Given the description of an element on the screen output the (x, y) to click on. 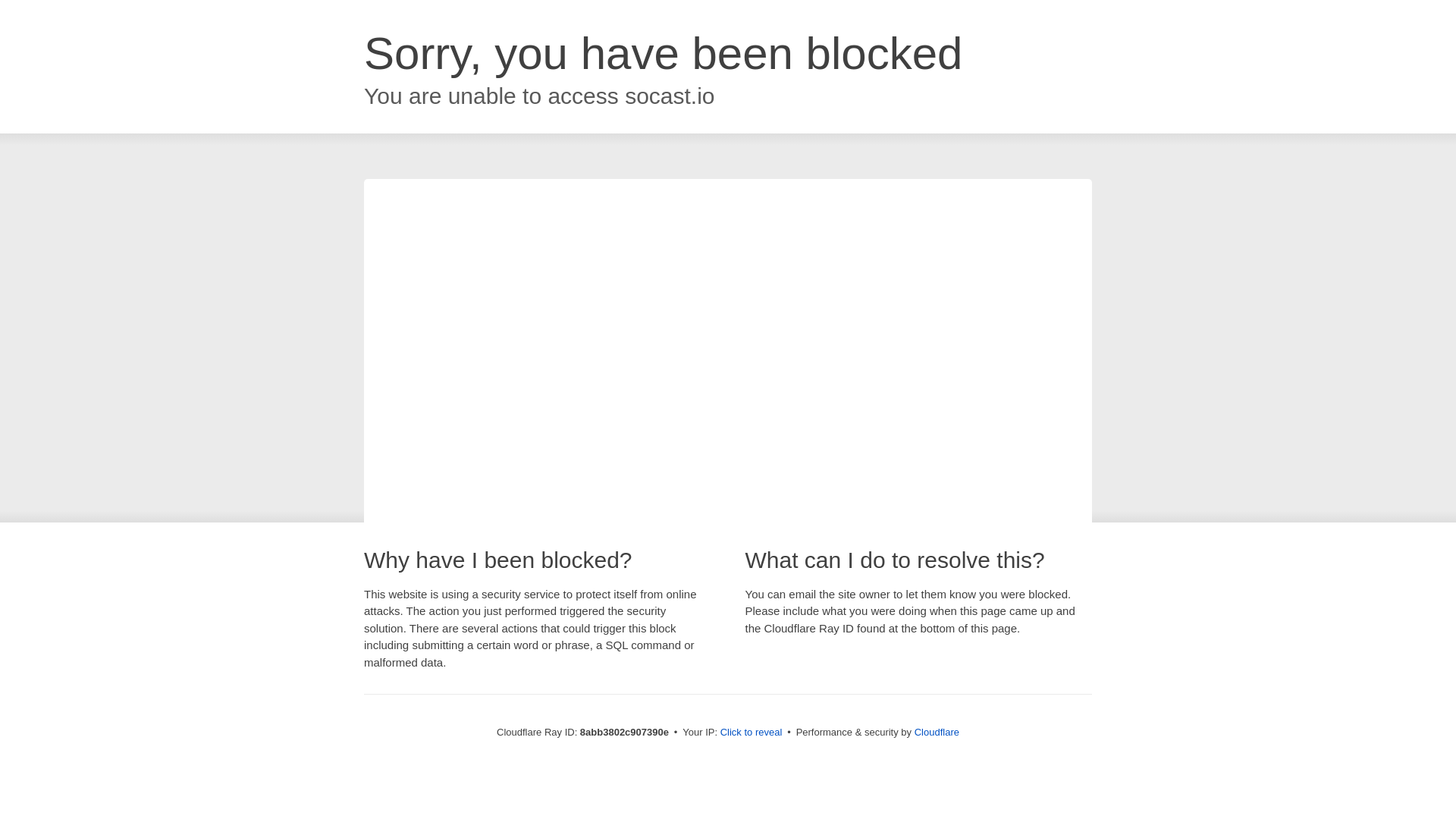
Cloudflare (936, 731)
Click to reveal (751, 732)
